Given the description of an element on the screen output the (x, y) to click on. 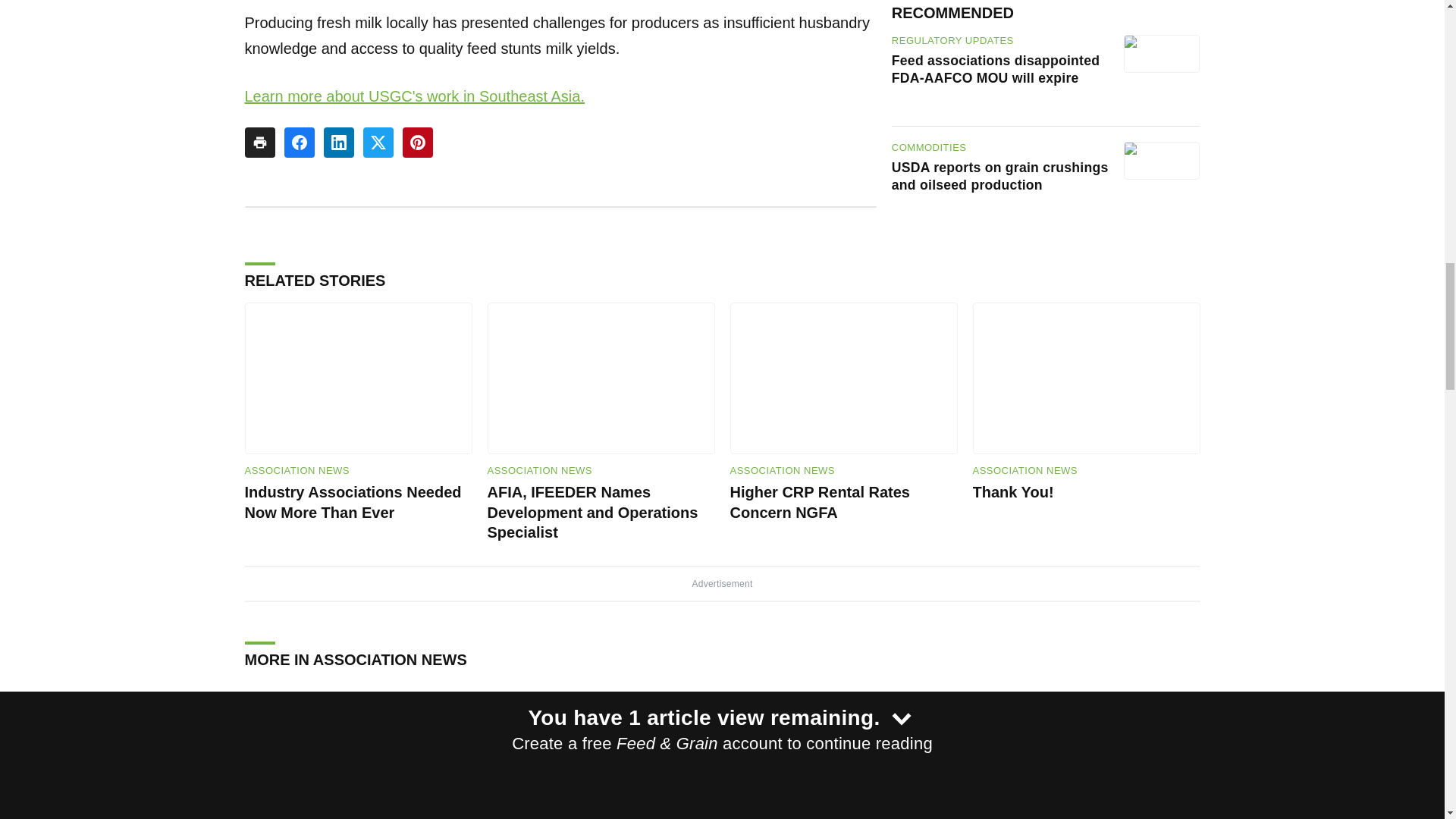
Share To facebook (298, 142)
Share To pinterest (416, 142)
Share To linkedin (338, 142)
Share To print (259, 142)
Share To twitter (377, 142)
